Given the description of an element on the screen output the (x, y) to click on. 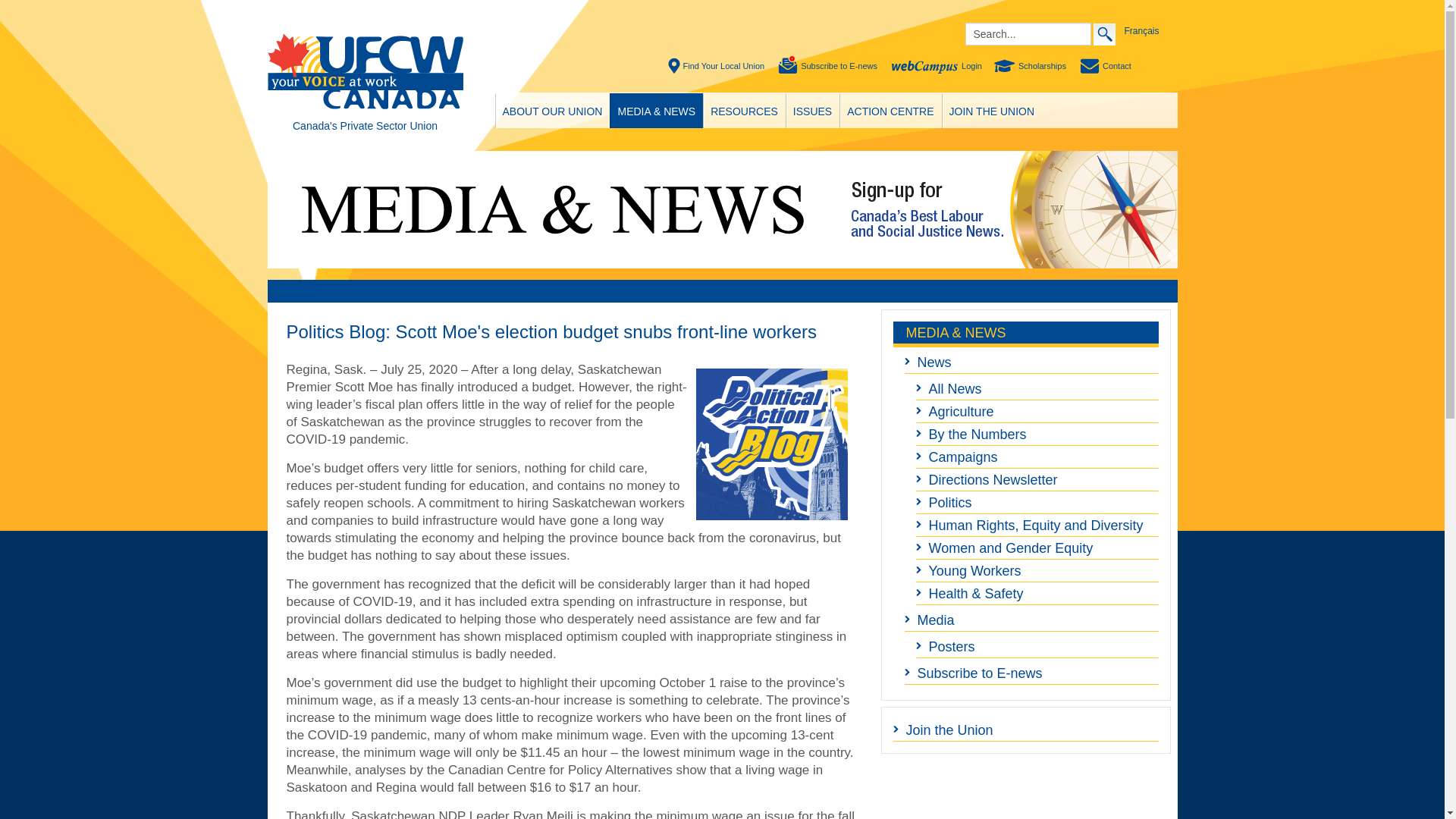
Women and Gender Equity (1036, 548)
Campaigns (1036, 456)
ABOUT OUR UNION (553, 110)
Human Rights, Equity and Diversity (1036, 525)
Contact (1106, 65)
All News (1036, 388)
JOIN THE UNION (992, 110)
RESOURCES (743, 110)
Politics (1036, 502)
